Given the description of an element on the screen output the (x, y) to click on. 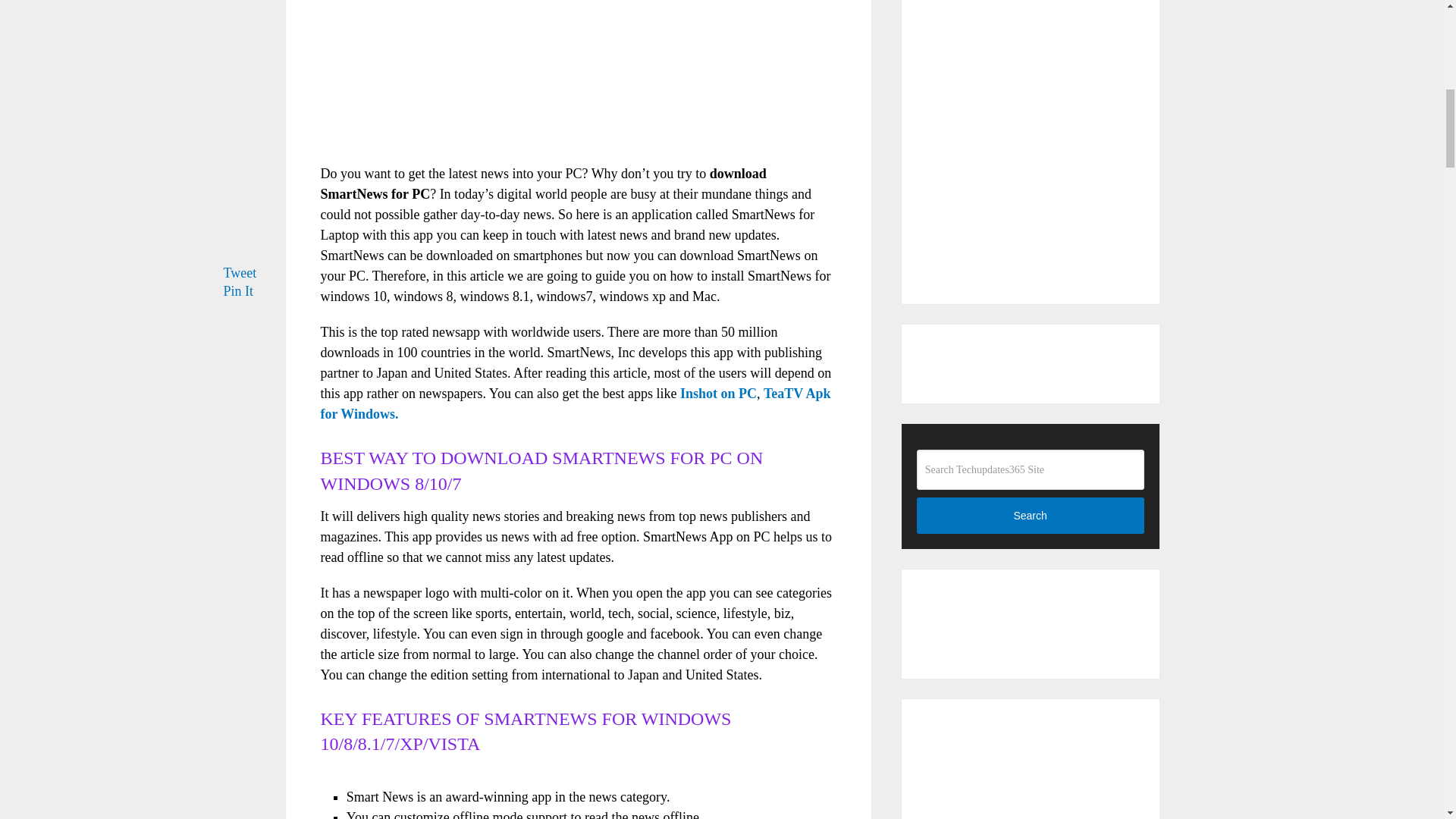
TeaTV Apk for Windows. (574, 403)
Advertisement (577, 79)
Search (1030, 515)
Inshot on PC (718, 393)
